Given the description of an element on the screen output the (x, y) to click on. 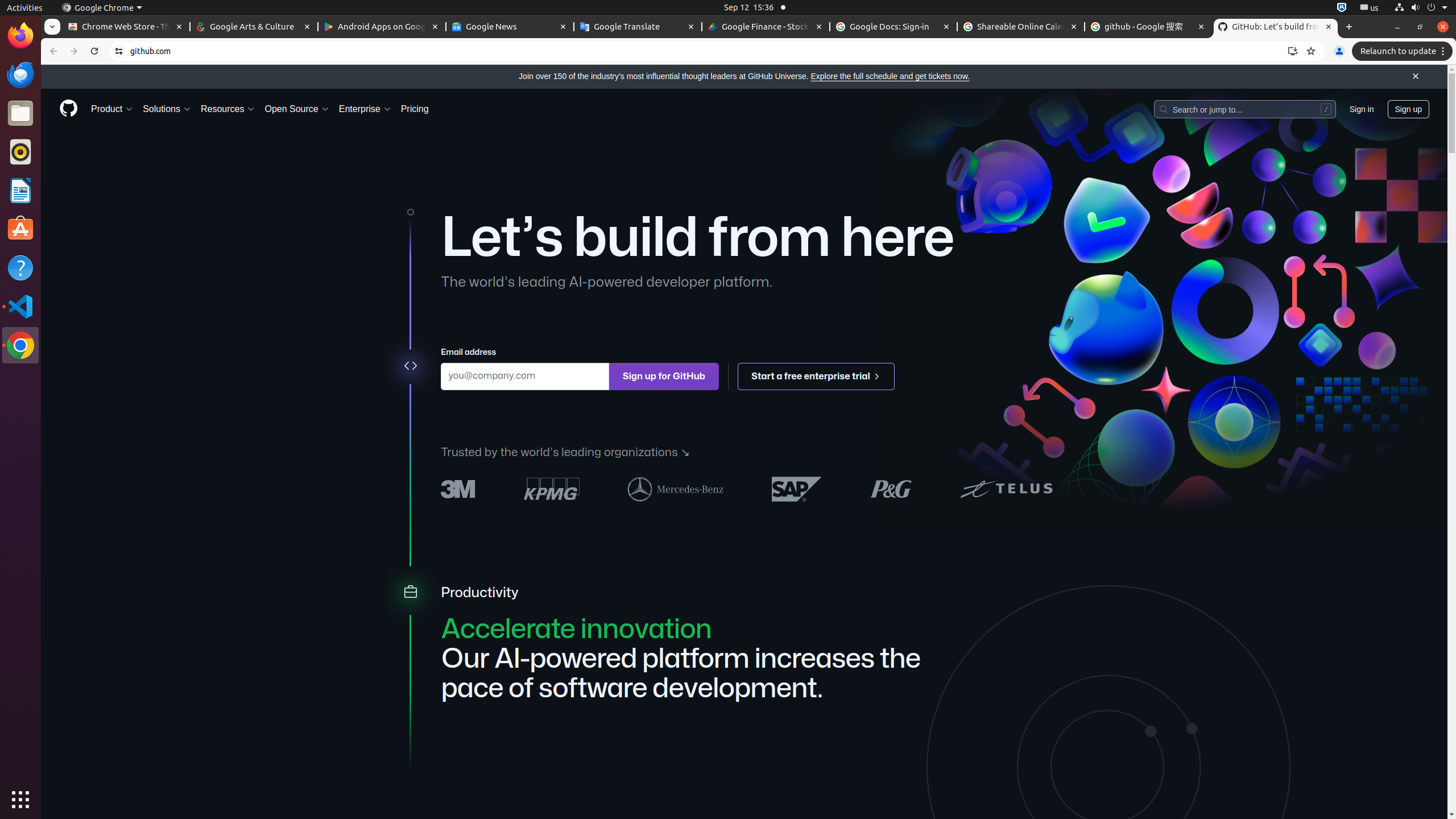
Relaunch to update Element type: push-button (1403, 50)
